Given the description of an element on the screen output the (x, y) to click on. 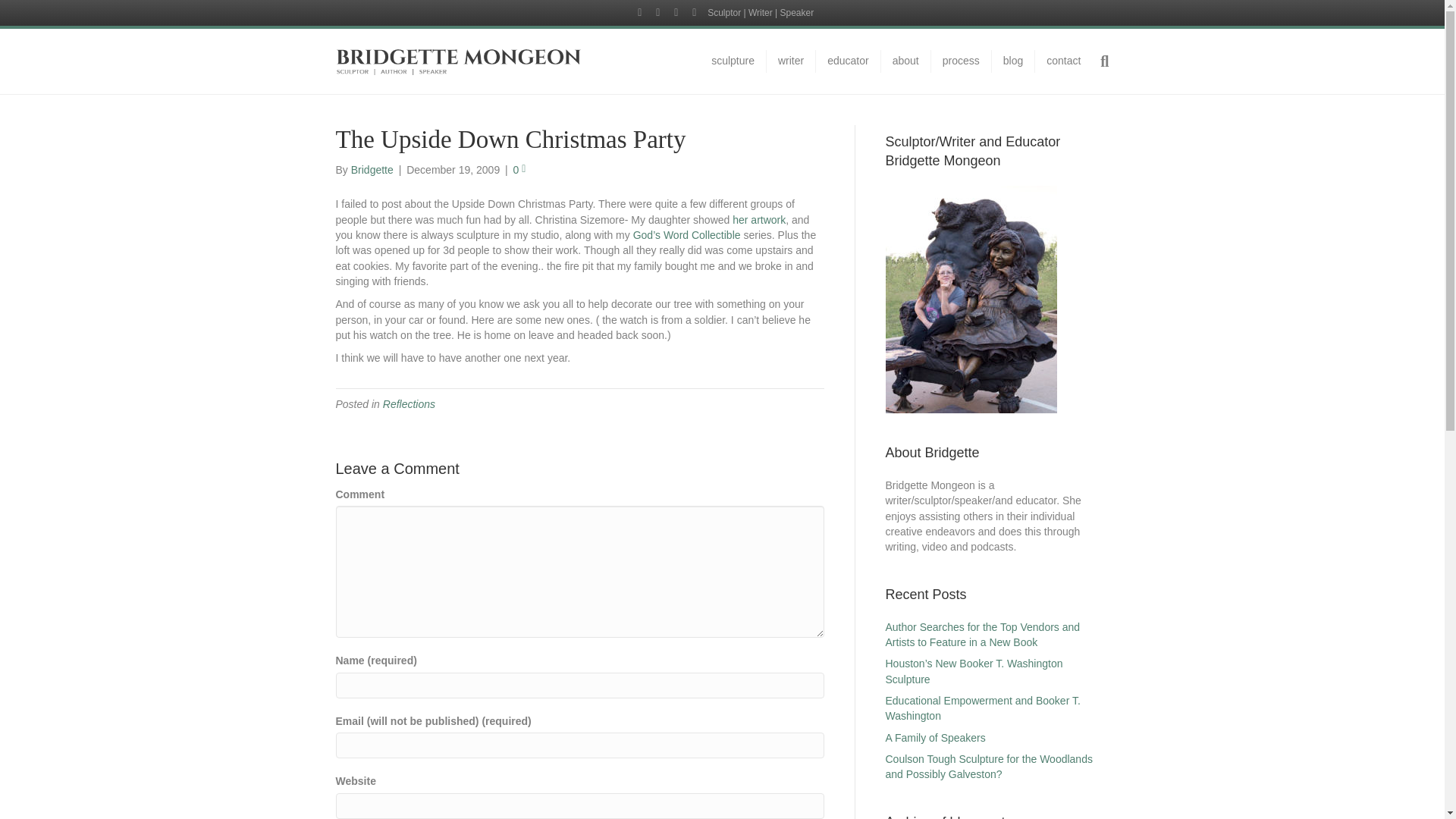
Linkedin (675, 11)
Twitter (657, 11)
Facebook (639, 11)
Instagram (694, 11)
